Given the description of an element on the screen output the (x, y) to click on. 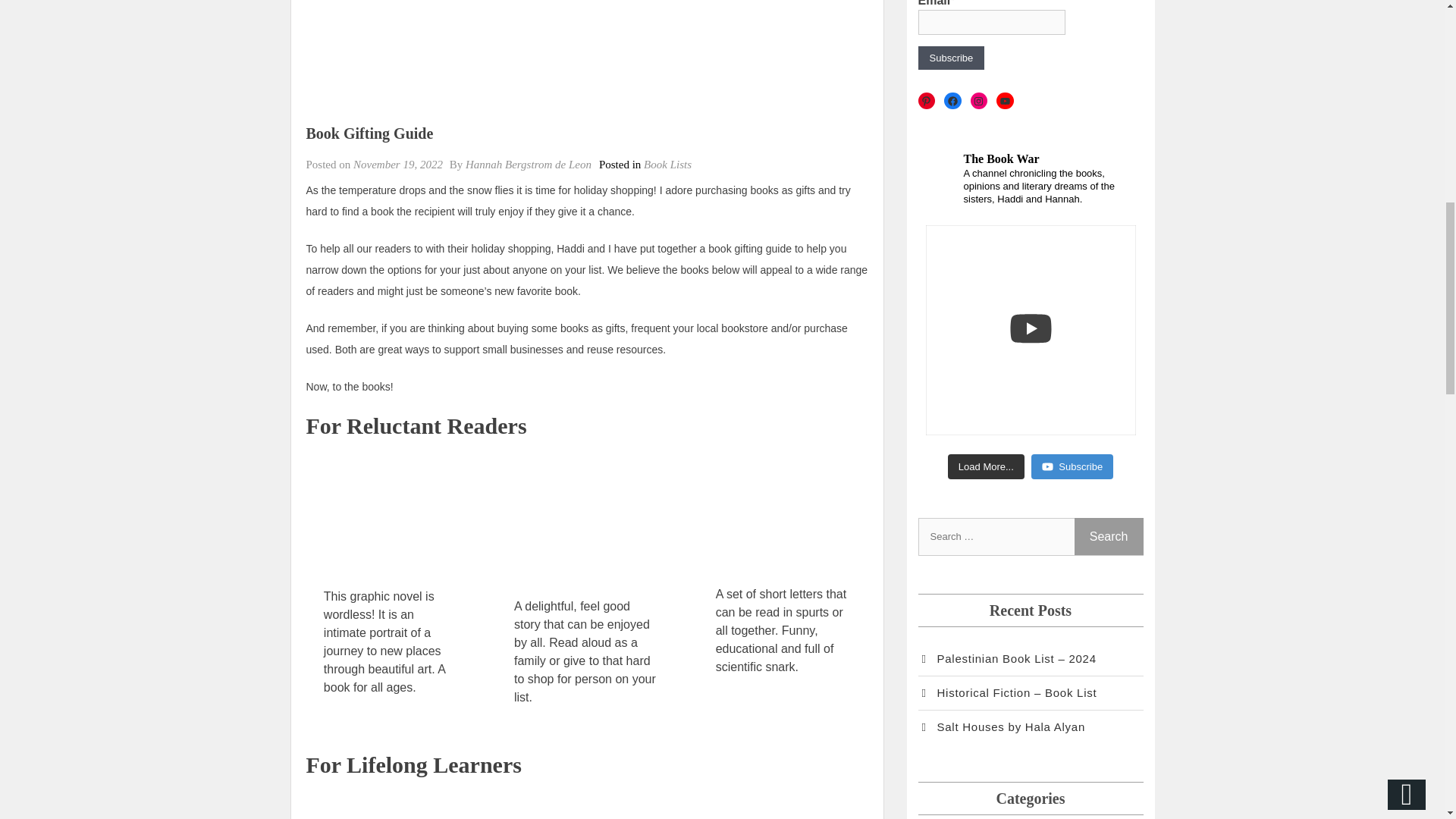
Book Lists (667, 164)
Subscribe (950, 57)
November 19, 2022 (397, 164)
search (1108, 536)
Salt Houses by Hala Alyan (1000, 727)
Subscribe (1071, 466)
search (1108, 536)
search (1108, 536)
